Given the description of an element on the screen output the (x, y) to click on. 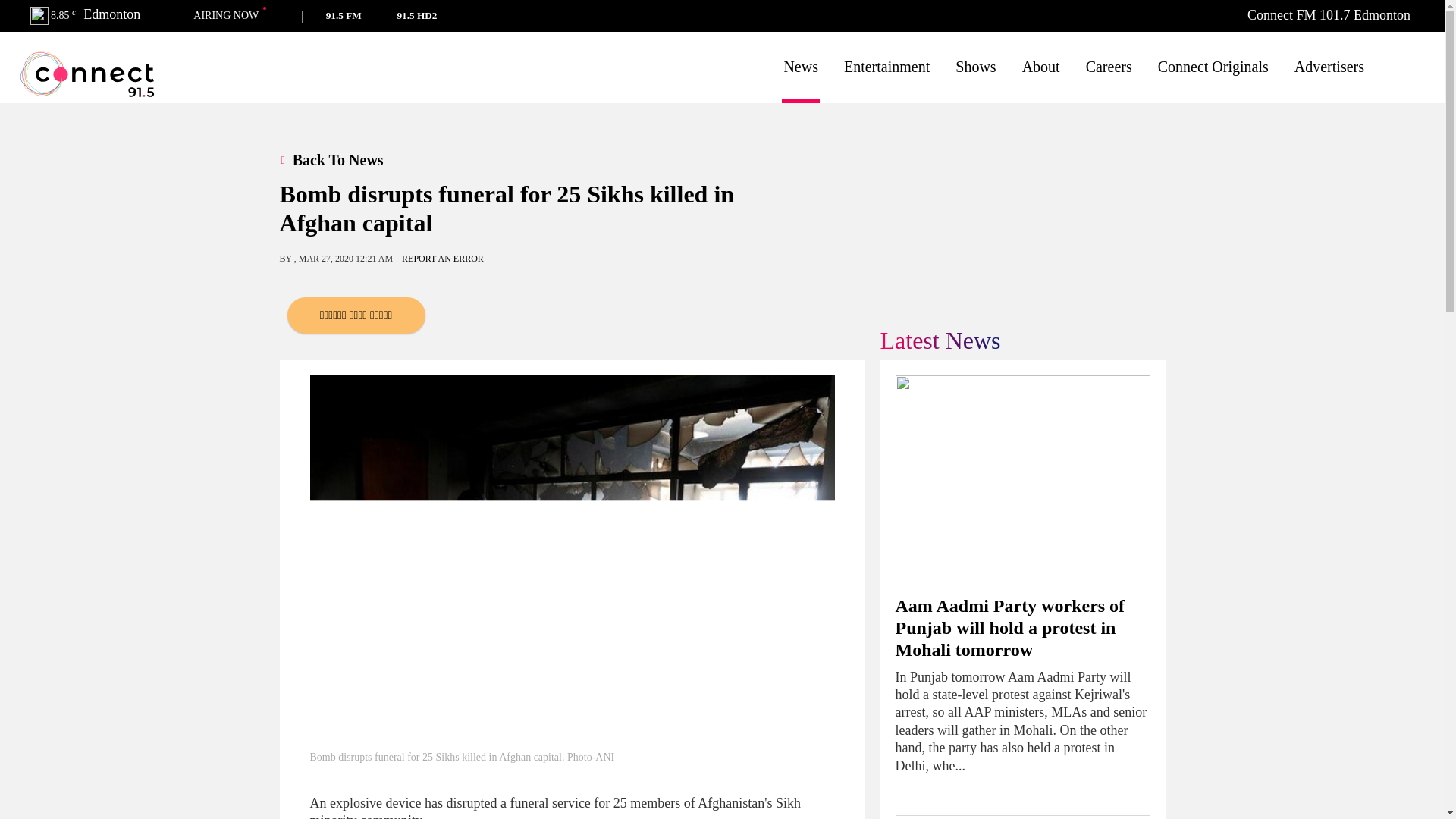
Connect Originals (1212, 66)
Entertainment (887, 66)
Back To News (349, 159)
Play (430, 15)
Advertisers (1328, 66)
REPORT AN ERROR (442, 258)
Play (454, 15)
Play (379, 15)
Play (330, 15)
Connect FM 101.7 Edmonton (1328, 14)
